Given the description of an element on the screen output the (x, y) to click on. 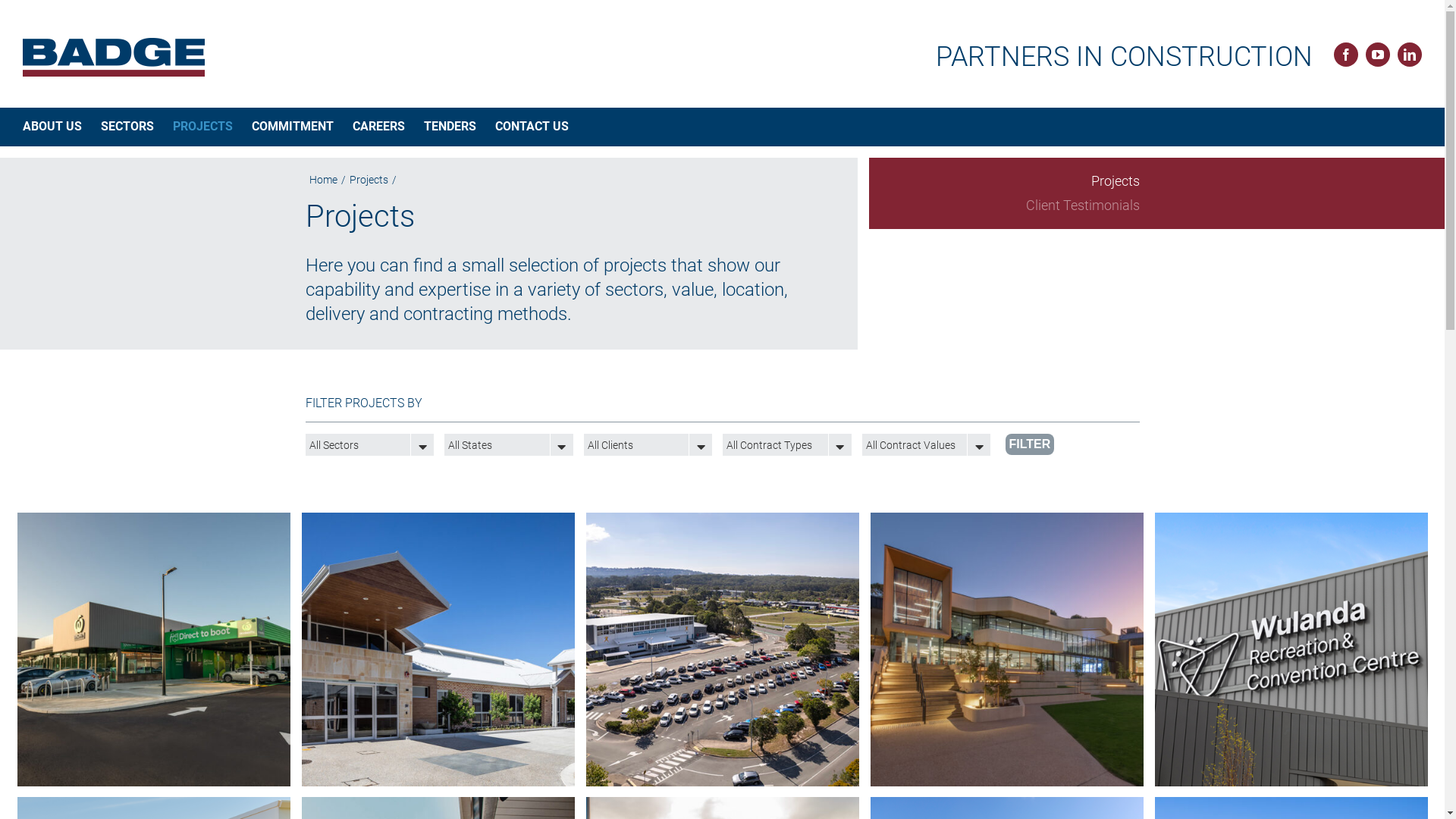
St Judes Guildford Village Element type: hover (438, 521)
FILTER Element type: text (1029, 444)
Woolworths Mount Barker South Element type: hover (153, 521)
Rainbow Beach Surf Life Saving Club Element type: hover (438, 805)
SECTORS Element type: text (126, 126)
COMMITMENT Element type: text (292, 126)
Mitchell Park Civic Centre Element type: hover (722, 805)
Home Element type: text (323, 179)
Projects Element type: text (1114, 180)
Scotch College Element type: hover (1007, 521)
PROJECTS Element type: text (202, 126)
CONTACT US Element type: text (531, 126)
TENDERS Element type: text (449, 126)
Southern River Square Shopping Centre Complex Element type: hover (1290, 805)
Client Testimonials Element type: text (1009, 205)
Wulanda Community Centre Element type: hover (1290, 521)
ABOUT US Element type: text (51, 126)
Chancellor State College Sports Hall Element type: hover (722, 521)
Compass Catholic College Element type: hover (153, 805)
CAREERS Element type: text (378, 126)
